Given the description of an element on the screen output the (x, y) to click on. 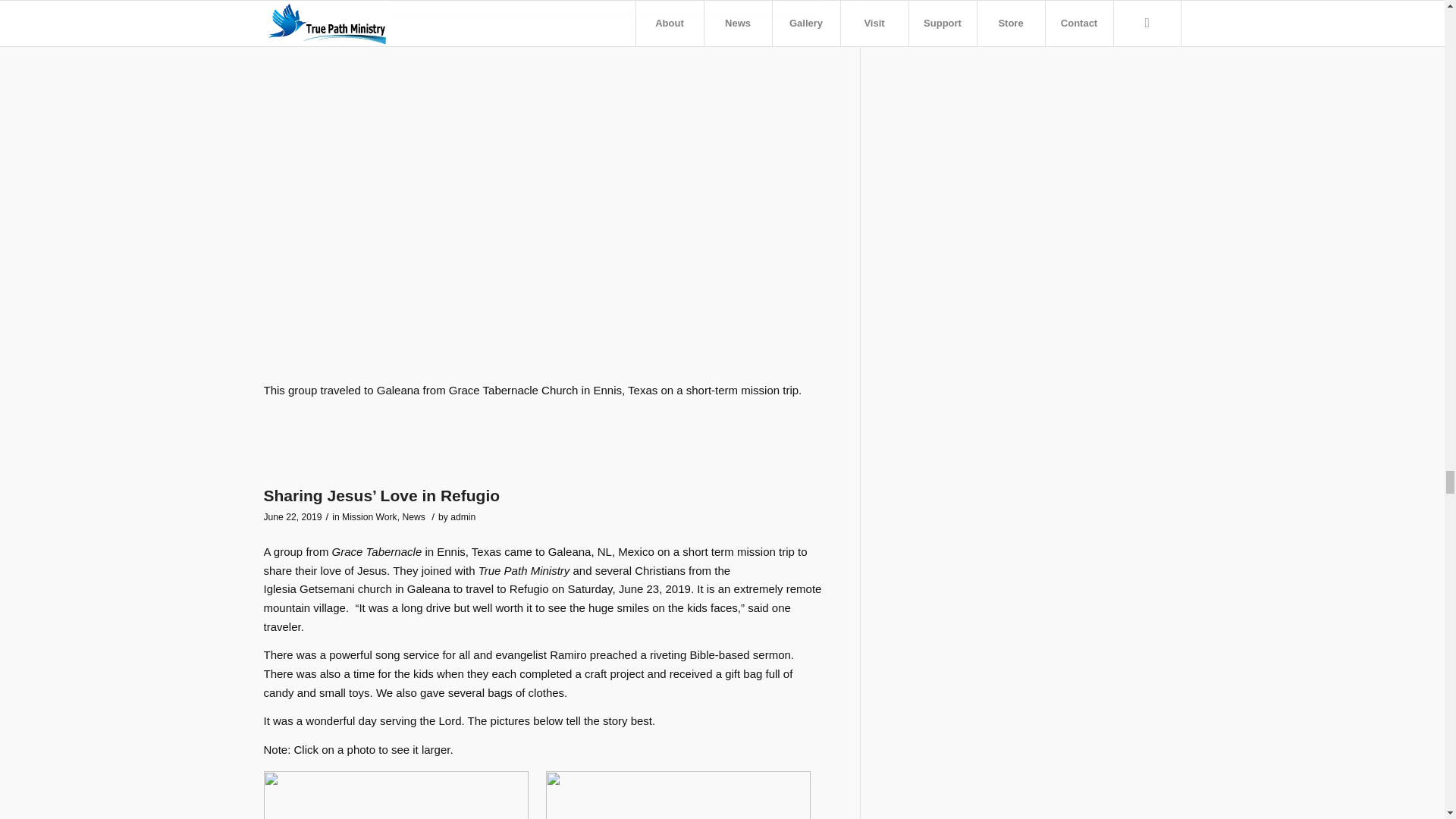
News (413, 516)
Mission Work (369, 516)
admin (462, 516)
Posts by admin (462, 516)
